Given the description of an element on the screen output the (x, y) to click on. 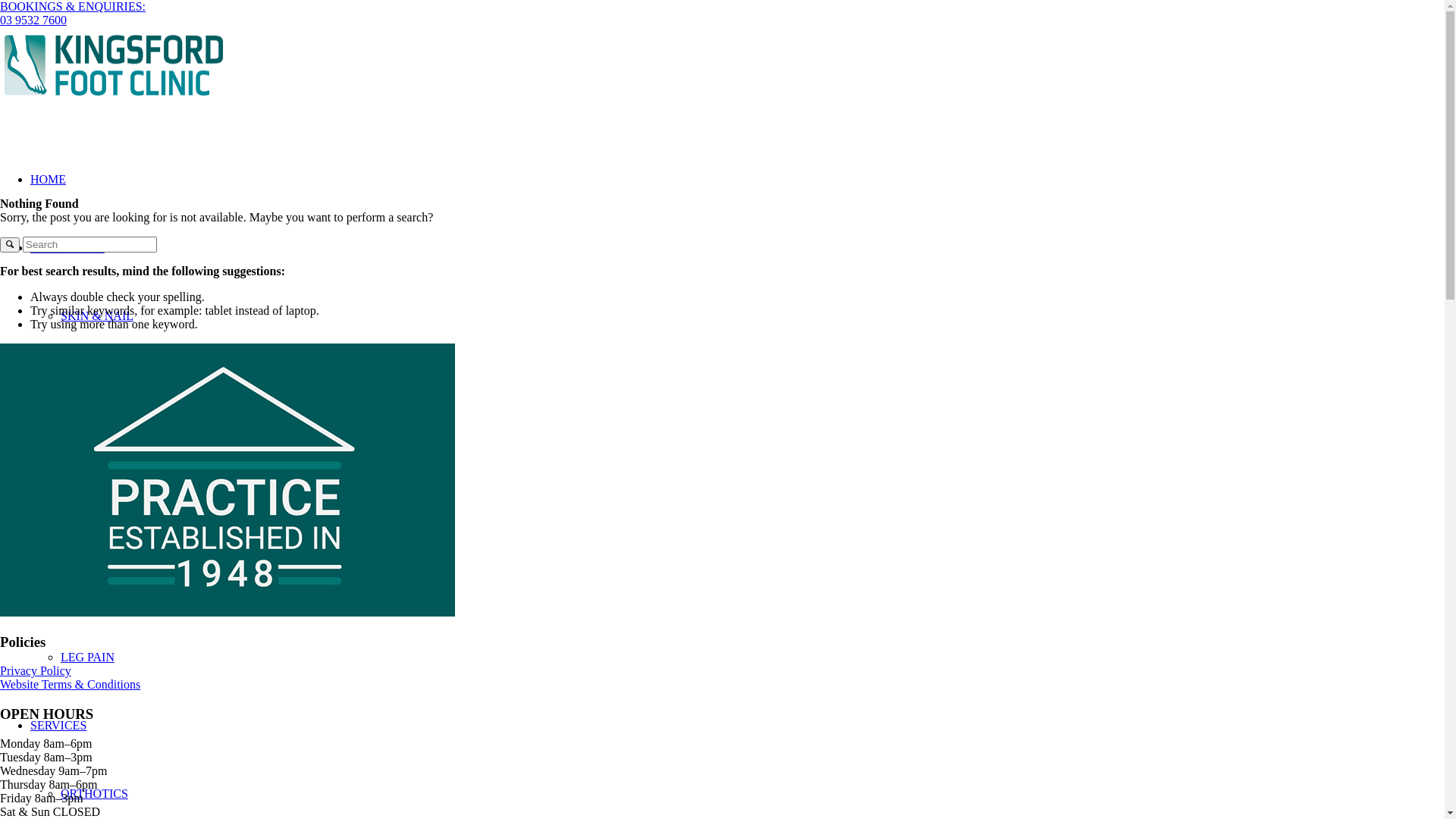
ORTHOTICS Element type: text (94, 793)
HEEL & ARCH PAIN Element type: text (114, 451)
FOREFOOT & TOEPAIN Element type: text (124, 383)
BOOKINGS & ENQUIRIES:
03 9532 7600 Element type: text (72, 13)
Privacy Policy Element type: text (35, 670)
MIDFOOT PAIN Element type: text (102, 520)
SERVICES Element type: text (58, 724)
LEG PAIN Element type: text (87, 656)
Website Terms & Conditions Element type: text (70, 683)
ANKLE PAIN Element type: text (95, 588)
KPG New Logo 520 Element type: hover (113, 65)
CONDITIONS Element type: text (67, 247)
SKIN & NAIL Element type: text (96, 315)
HOME Element type: text (47, 178)
